Given the description of an element on the screen output the (x, y) to click on. 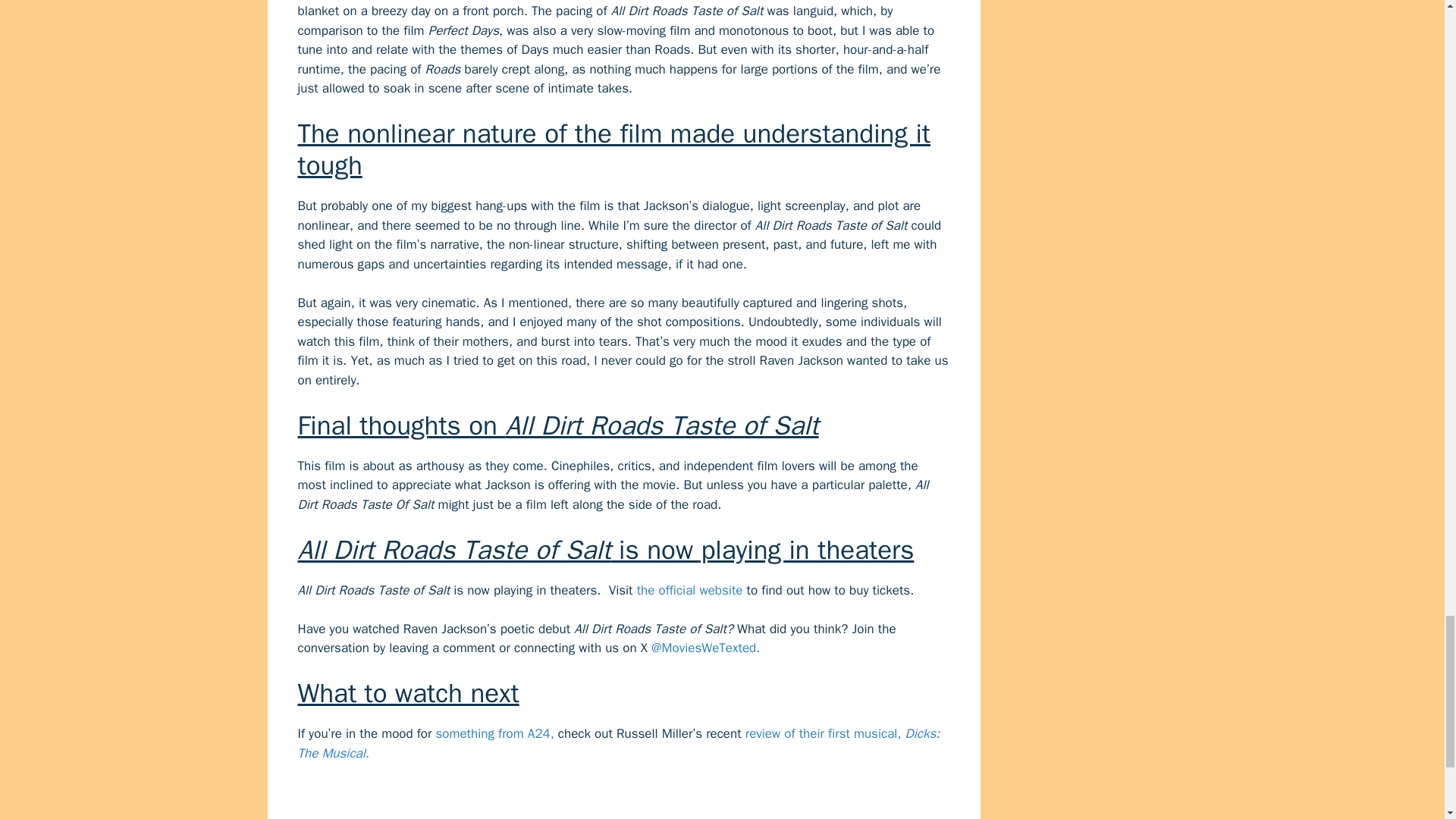
something from A24, (494, 733)
review of their first musical, Dicks: The Musical. (618, 743)
the official website (689, 590)
